Given the description of an element on the screen output the (x, y) to click on. 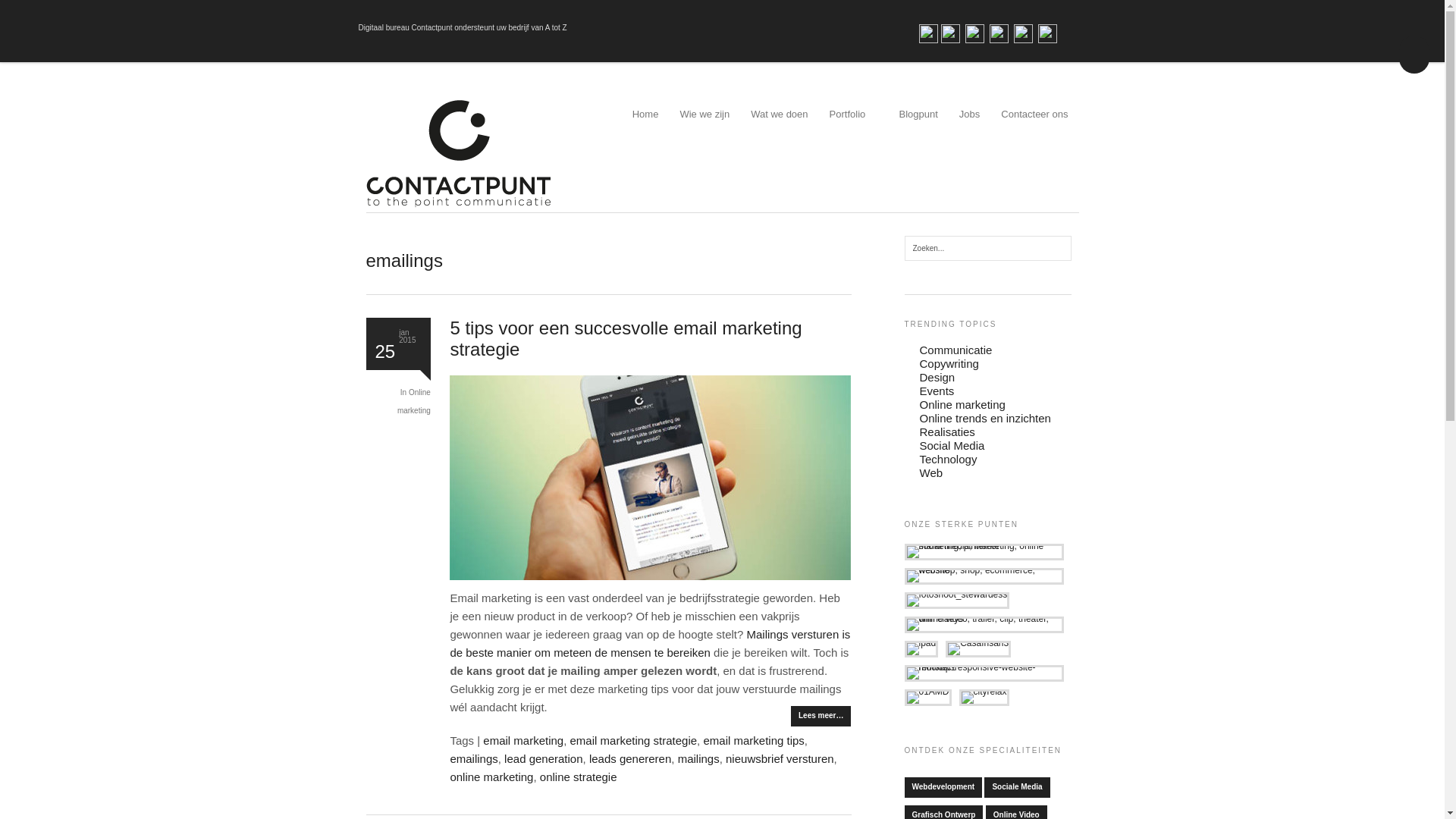
5 tips voor een succesvolle email marketing strategie Element type: text (625, 338)
email marketing Element type: text (523, 740)
Wie we zijn Element type: text (704, 122)
Communicatie Element type: text (955, 349)
Sociale Media Element type: text (1016, 787)
Realisaties Element type: text (946, 431)
Online marketing Element type: text (961, 404)
Social Media Element type: text (951, 445)
Contacteer ons Element type: text (1034, 122)
leads genereren Element type: text (630, 758)
online strategie Element type: text (578, 776)
Web Element type: text (930, 472)
Technology Element type: text (947, 458)
emailings Element type: text (473, 758)
nieuwsbrief versturen Element type: text (779, 758)
facebook Element type: hover (928, 33)
Blogpunt Element type: text (918, 122)
Events Element type: text (936, 390)
lead generation Element type: text (543, 758)
foursquare Element type: hover (1047, 33)
mailings Element type: text (698, 758)
Wat we doen Element type: text (778, 122)
google+ Element type: hover (1022, 33)
twitter Element type: hover (950, 33)
Online trends en inzichten Element type: text (984, 417)
Jobs Element type: text (969, 122)
Home Element type: text (645, 122)
email marketing tips Element type: text (752, 740)
Webdevelopment Element type: text (942, 787)
email marketing strategie Element type: text (633, 740)
Copywriting Element type: text (948, 363)
Design Element type: text (936, 376)
online marketing Element type: text (491, 776)
Online marketing Element type: text (413, 401)
linkedin Element type: hover (974, 33)
youtube Element type: hover (998, 33)
